Given the description of an element on the screen output the (x, y) to click on. 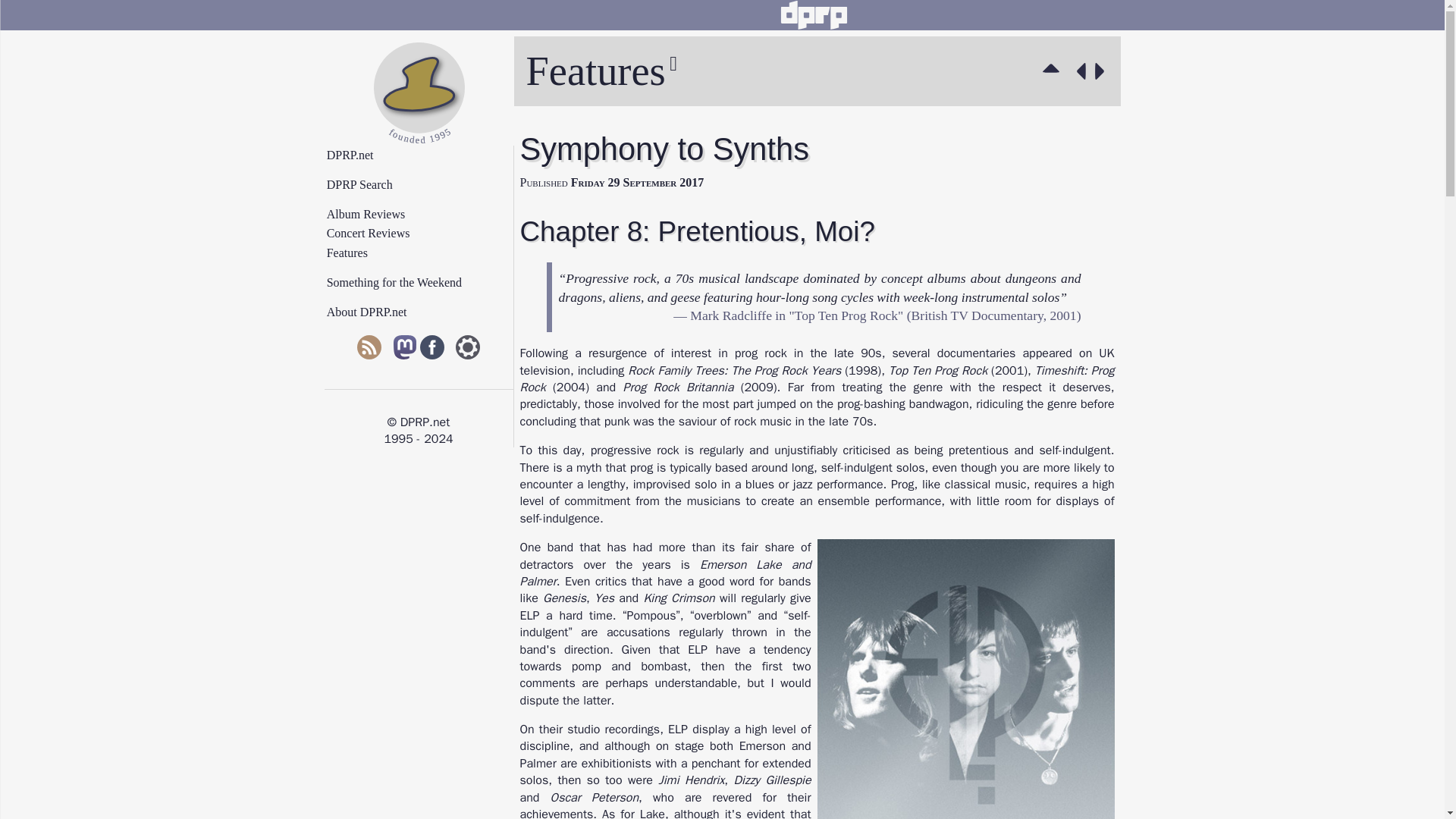
DPRP Search (424, 184)
DPRP.net (424, 155)
DPRP on Mastodon (404, 348)
Something for the Weekend (424, 283)
DPRP on Facebook (432, 348)
Features (1053, 70)
Symphony to Synths (1077, 70)
Concert Reviews (424, 234)
About DPRP.net (424, 312)
Features (424, 252)
Symphony to Synths (1102, 70)
Album Reviews (424, 214)
DPRP.net RSS feed (368, 348)
settings (467, 348)
